Given the description of an element on the screen output the (x, y) to click on. 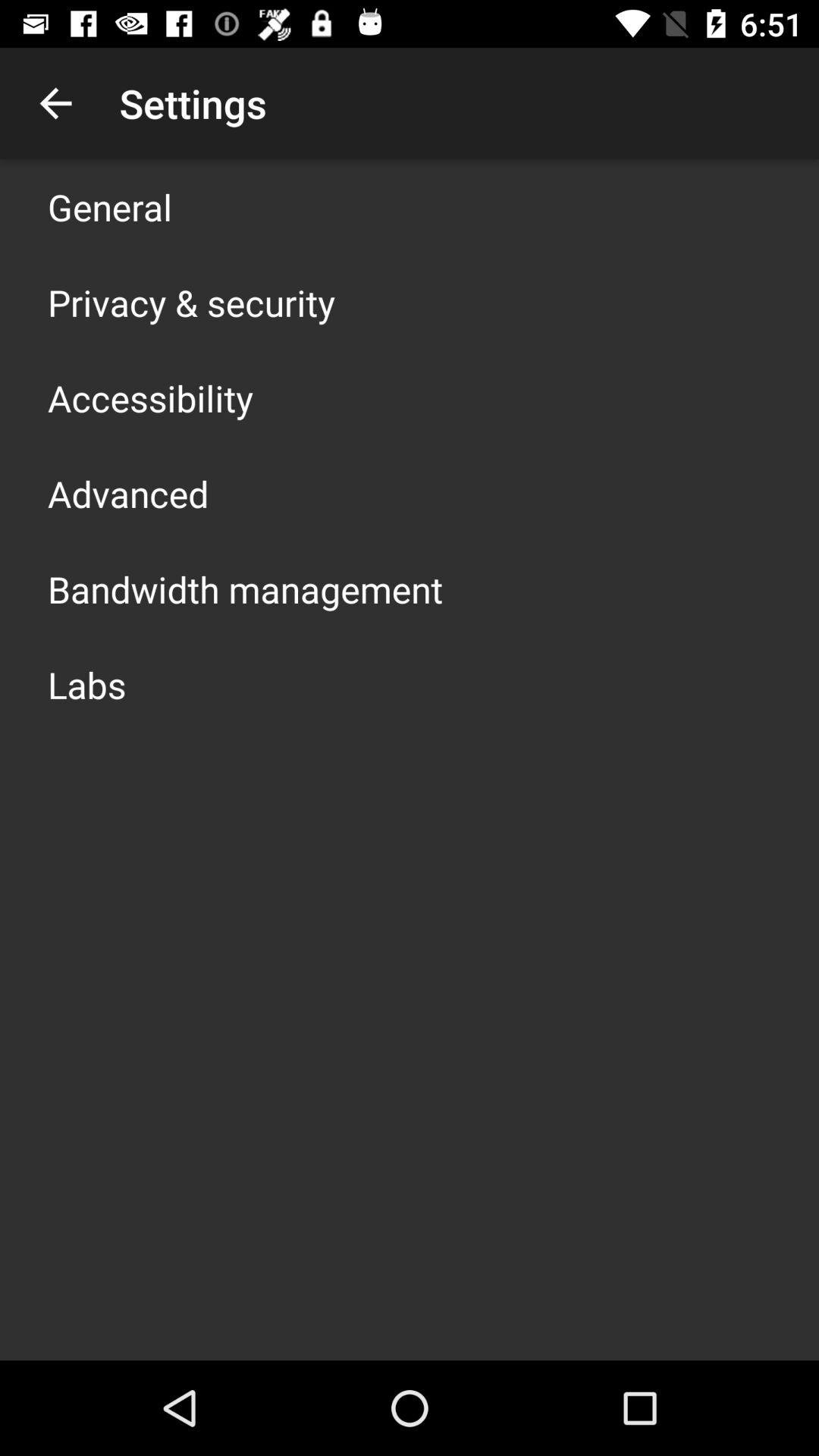
turn on item above privacy & security item (109, 206)
